Given the description of an element on the screen output the (x, y) to click on. 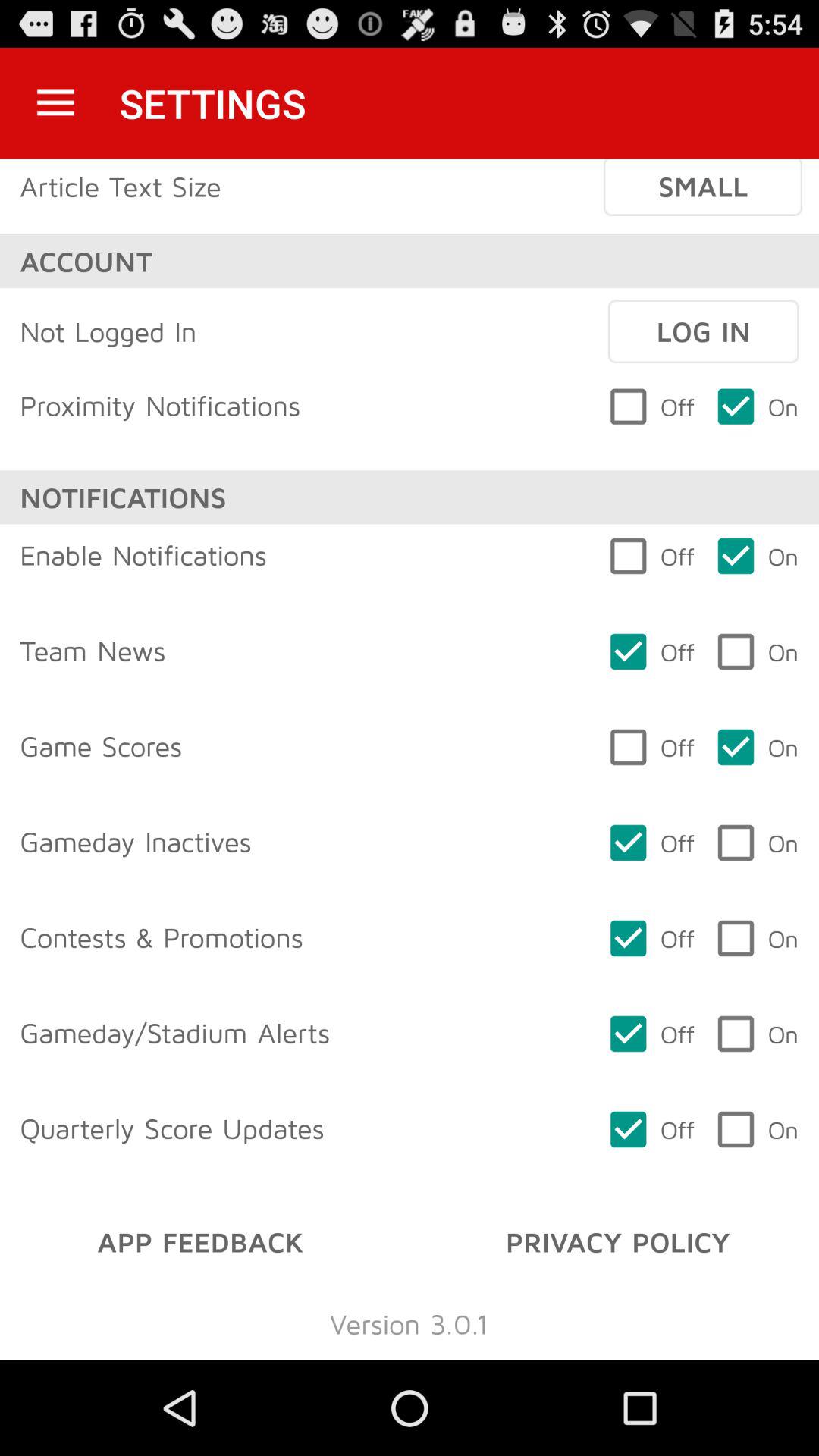
tap the item to the left of settings (55, 103)
